Given the description of an element on the screen output the (x, y) to click on. 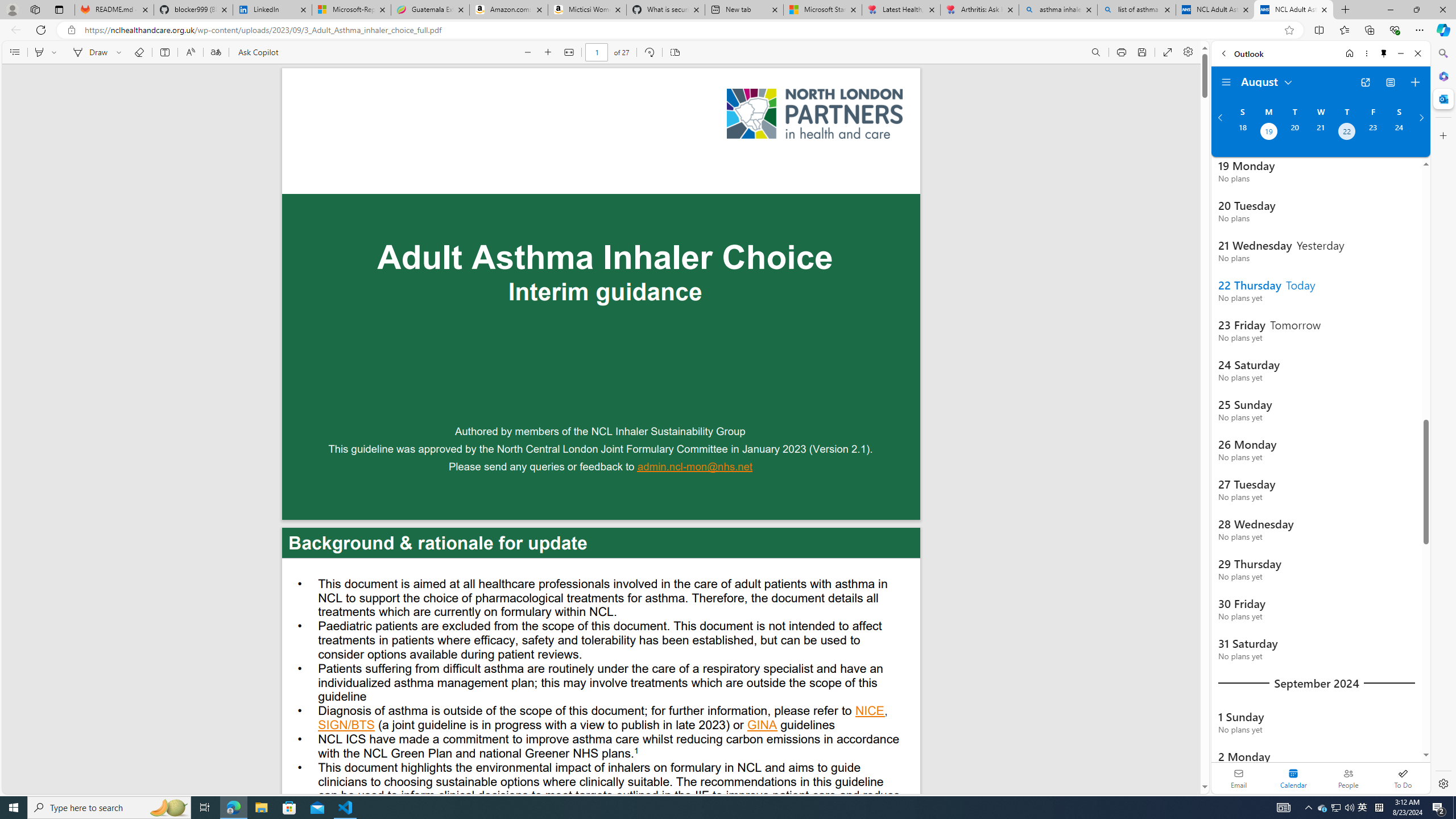
PDF bar (601, 51)
Ask Copilot (257, 52)
People (1347, 777)
Zoom out (Ctrl+Minus key) (527, 52)
Highlight (39, 52)
To Do (1402, 777)
Contents (14, 52)
Create event (1414, 82)
